Given the description of an element on the screen output the (x, y) to click on. 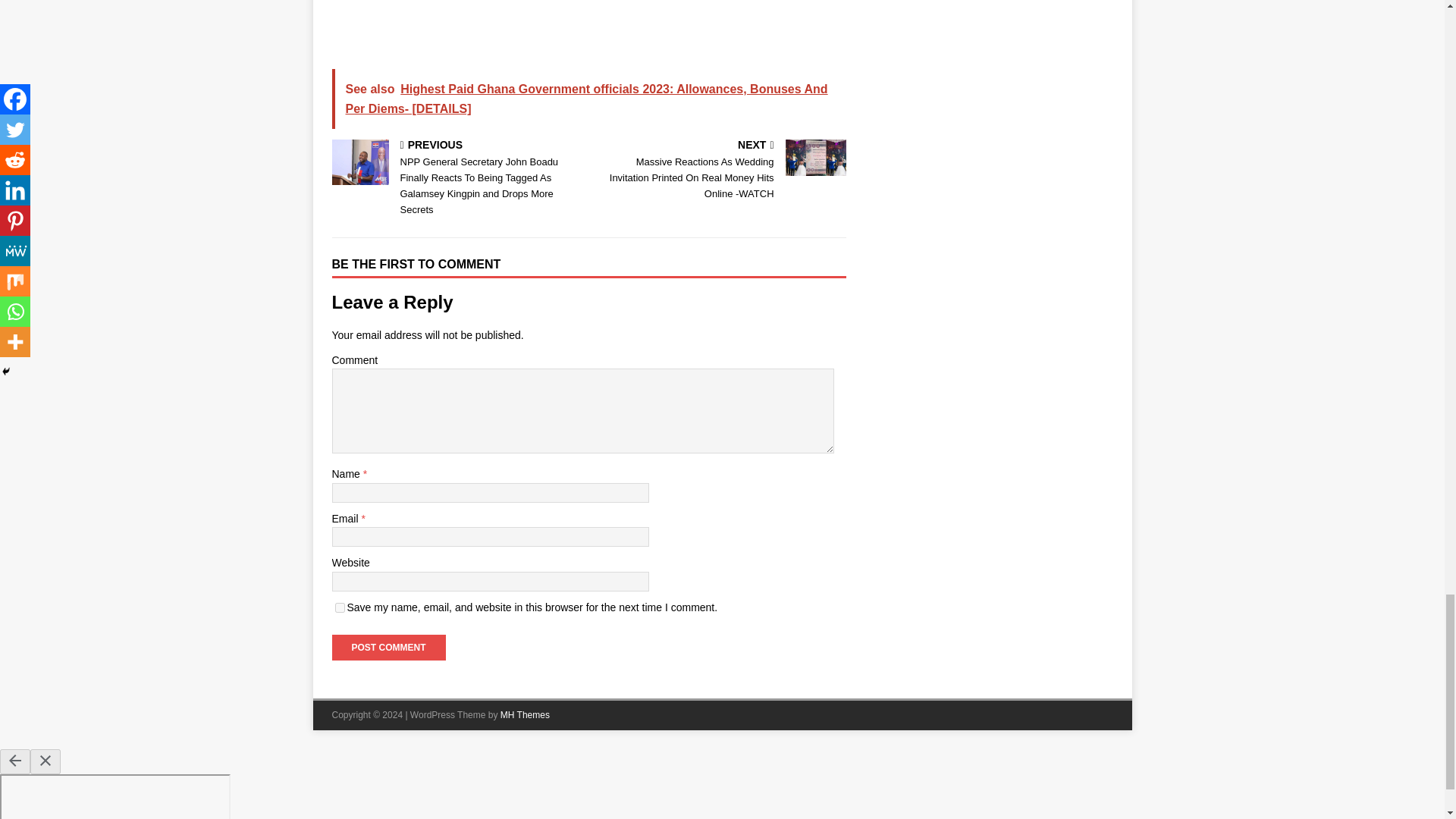
Post Comment (388, 647)
Post Comment (388, 647)
yes (339, 607)
